Given the description of an element on the screen output the (x, y) to click on. 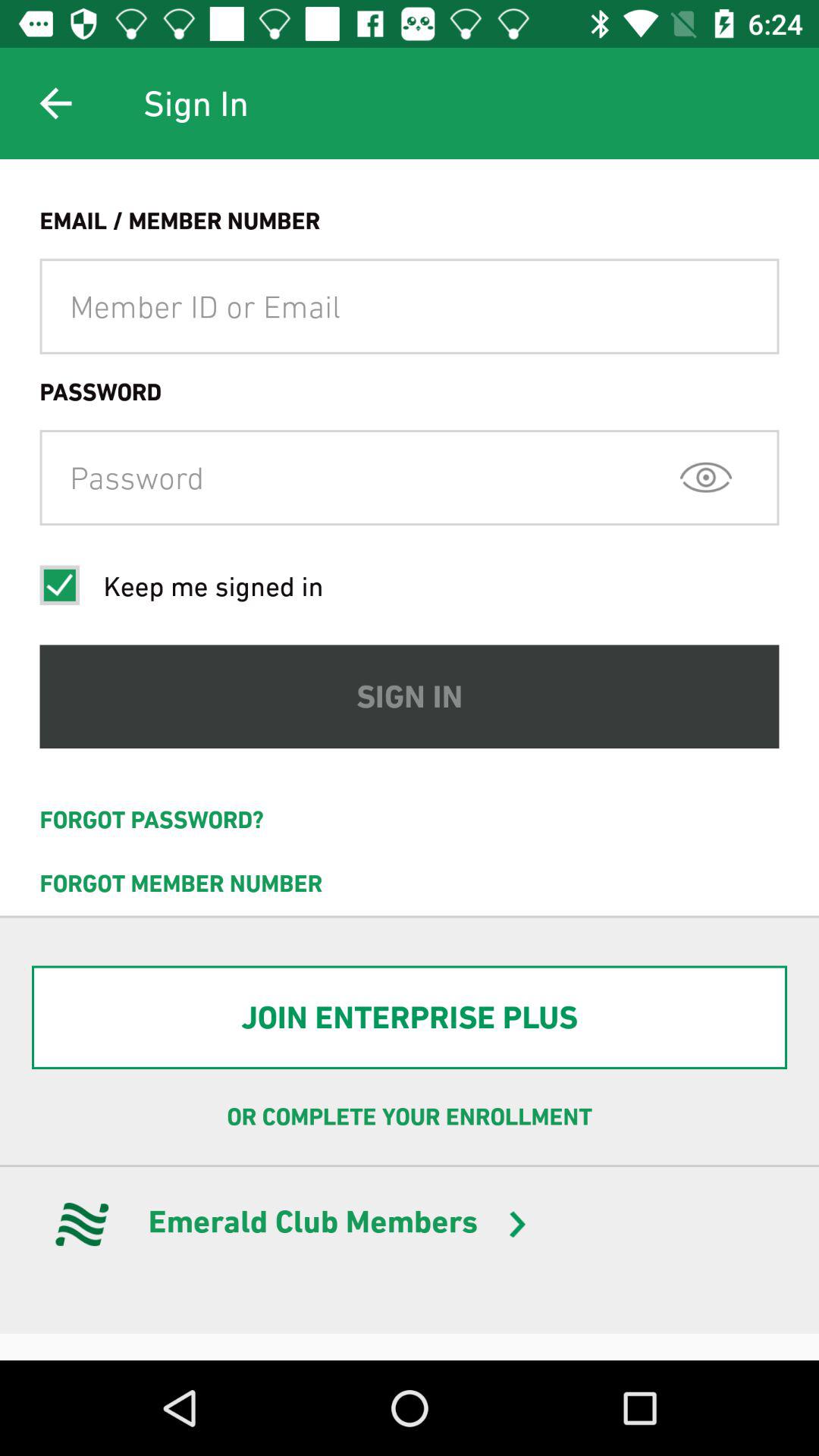
member id email field (409, 306)
